Given the description of an element on the screen output the (x, y) to click on. 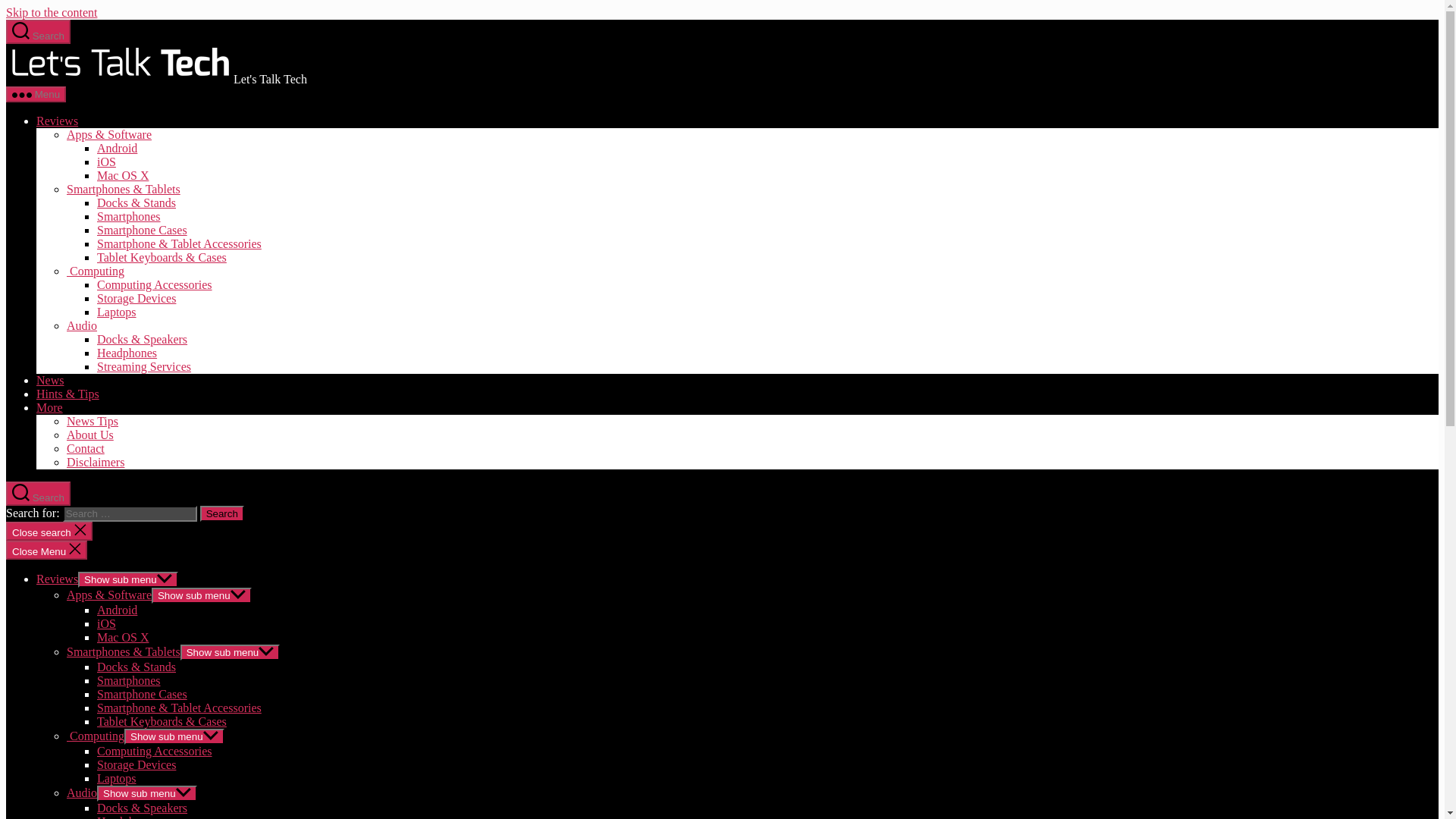
Computing Accessories (154, 284)
Show sub menu (201, 595)
Headphones (127, 352)
Contact (85, 448)
iOS (106, 623)
Storage Devices (136, 297)
Search (37, 31)
Reviews (57, 120)
Close search (49, 530)
Android (116, 609)
Search (222, 513)
Search (37, 493)
Close Menu (46, 549)
Streaming Services (143, 366)
News Tips (91, 420)
